Given the description of an element on the screen output the (x, y) to click on. 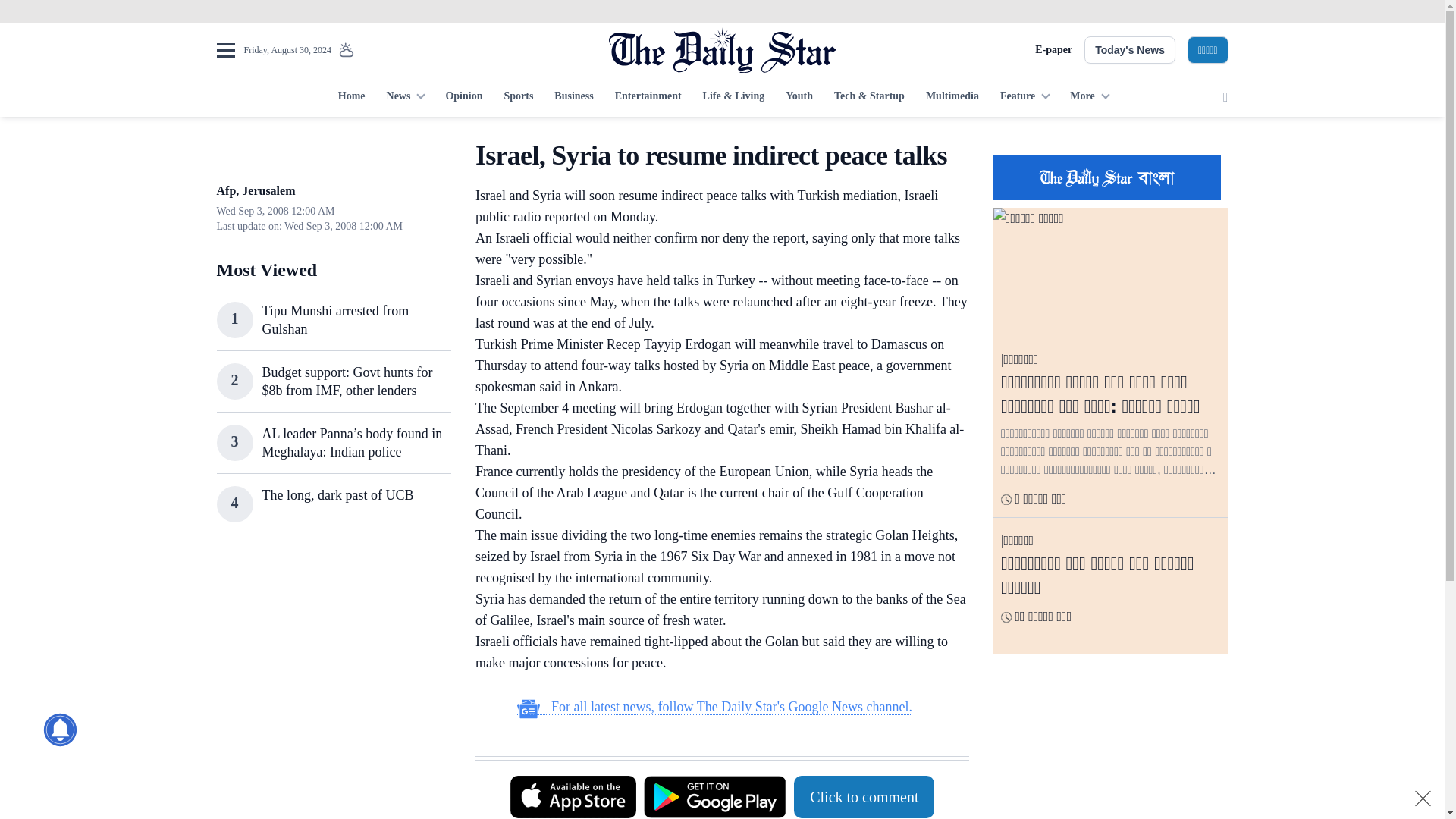
Youth (799, 96)
Opinion (463, 96)
News (405, 96)
Business (573, 96)
Multimedia (952, 96)
Today's News (1129, 49)
Home (351, 96)
Entertainment (647, 96)
E-paper (1053, 49)
Feature (1024, 96)
